Given the description of an element on the screen output the (x, y) to click on. 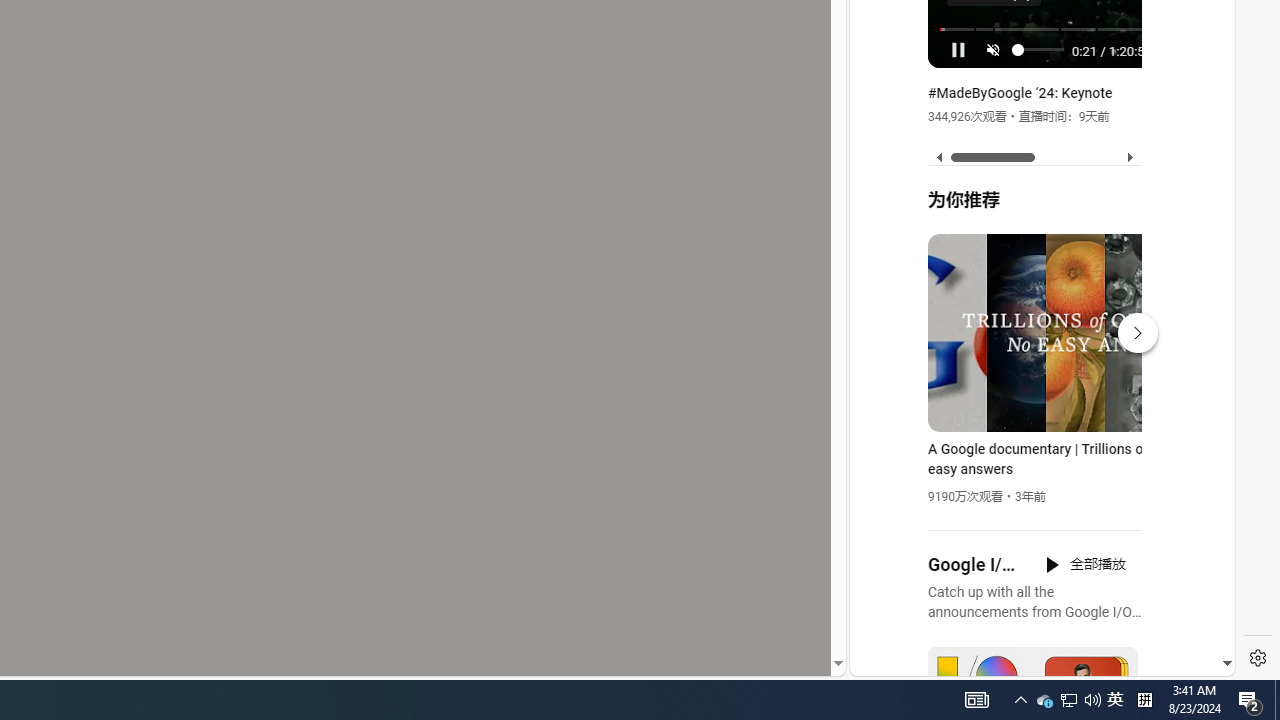
Google I/O 2024 (974, 565)
#you (1034, 439)
Actions for this site (1131, 443)
Global web icon (888, 432)
